Given the description of an element on the screen output the (x, y) to click on. 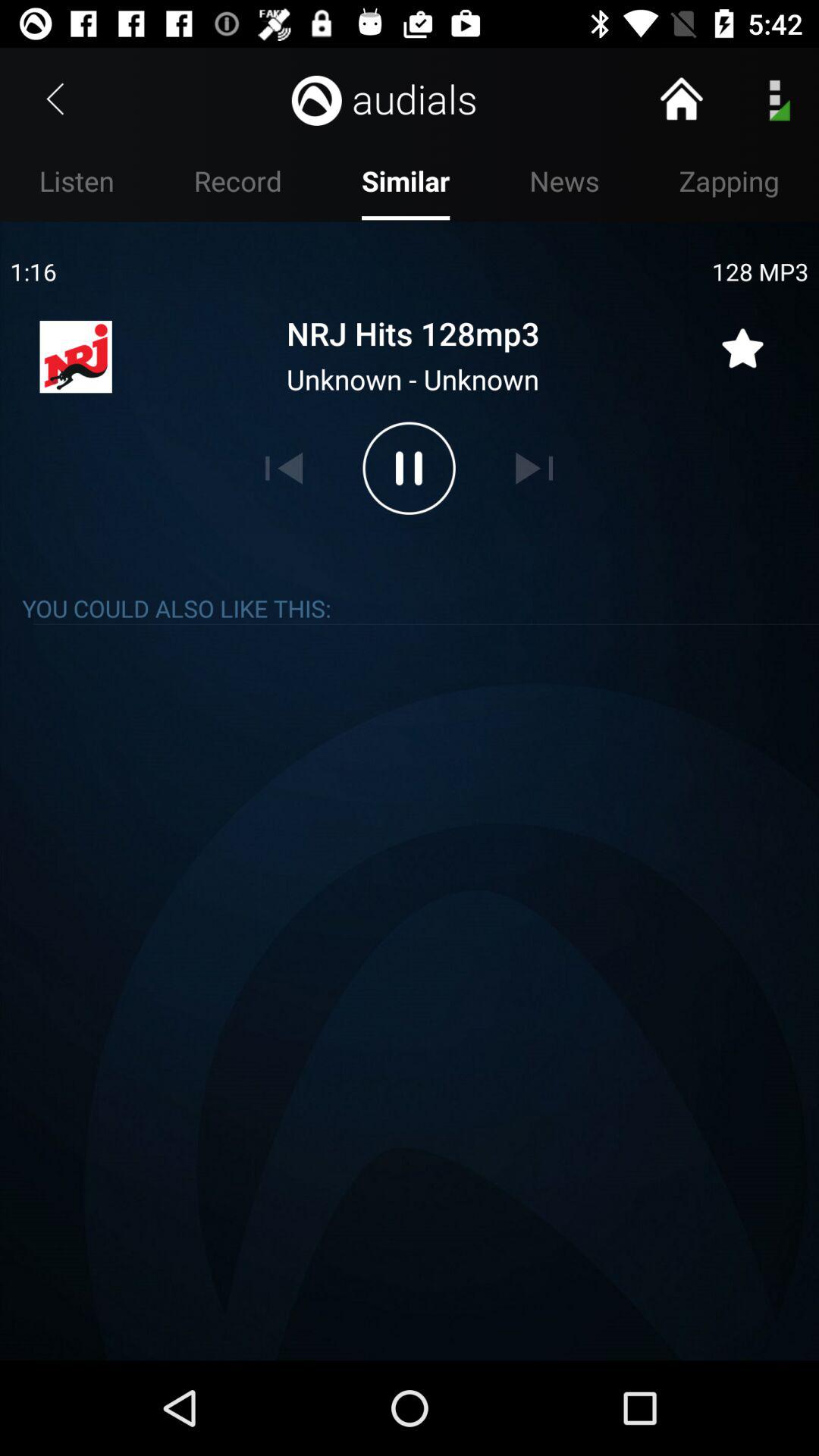
go to previous song (283, 468)
